Given the description of an element on the screen output the (x, y) to click on. 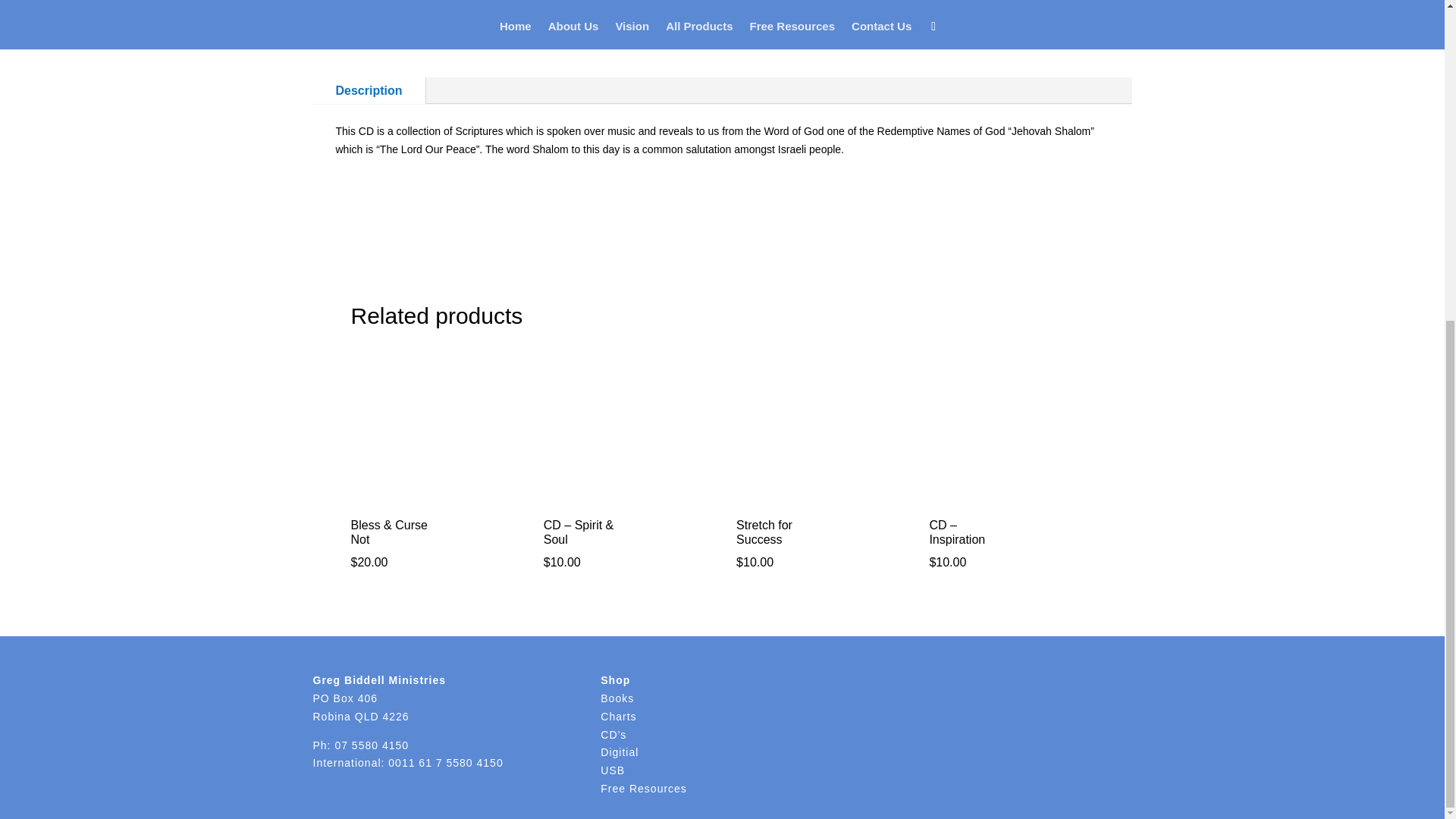
USB (611, 770)
Digitial (619, 752)
Books (616, 698)
Charts (617, 716)
Description (369, 90)
Free Resources (643, 788)
